Given the description of an element on the screen output the (x, y) to click on. 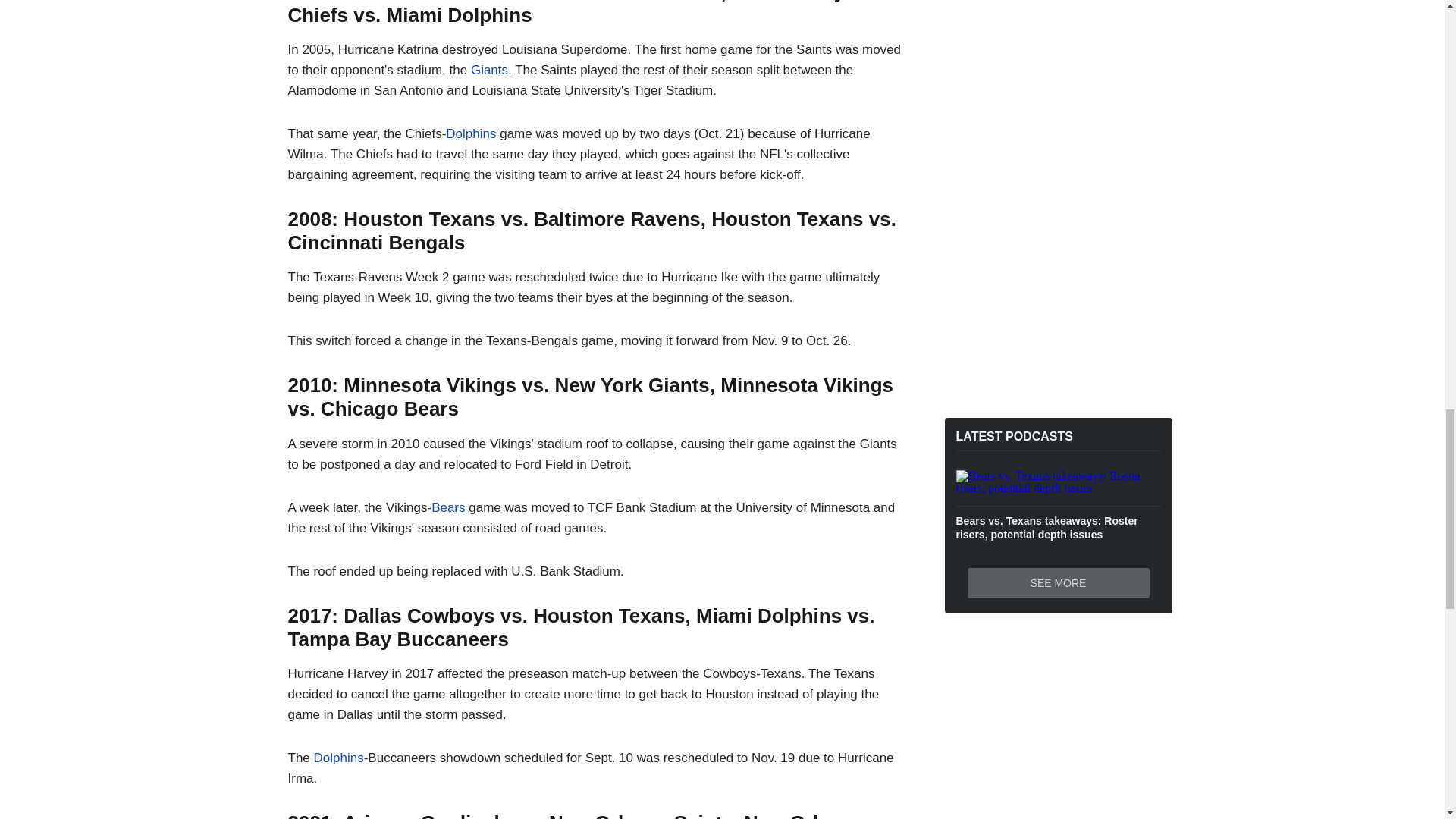
Dolphins (470, 133)
Giants (489, 69)
Bears (447, 507)
